Given the description of an element on the screen output the (x, y) to click on. 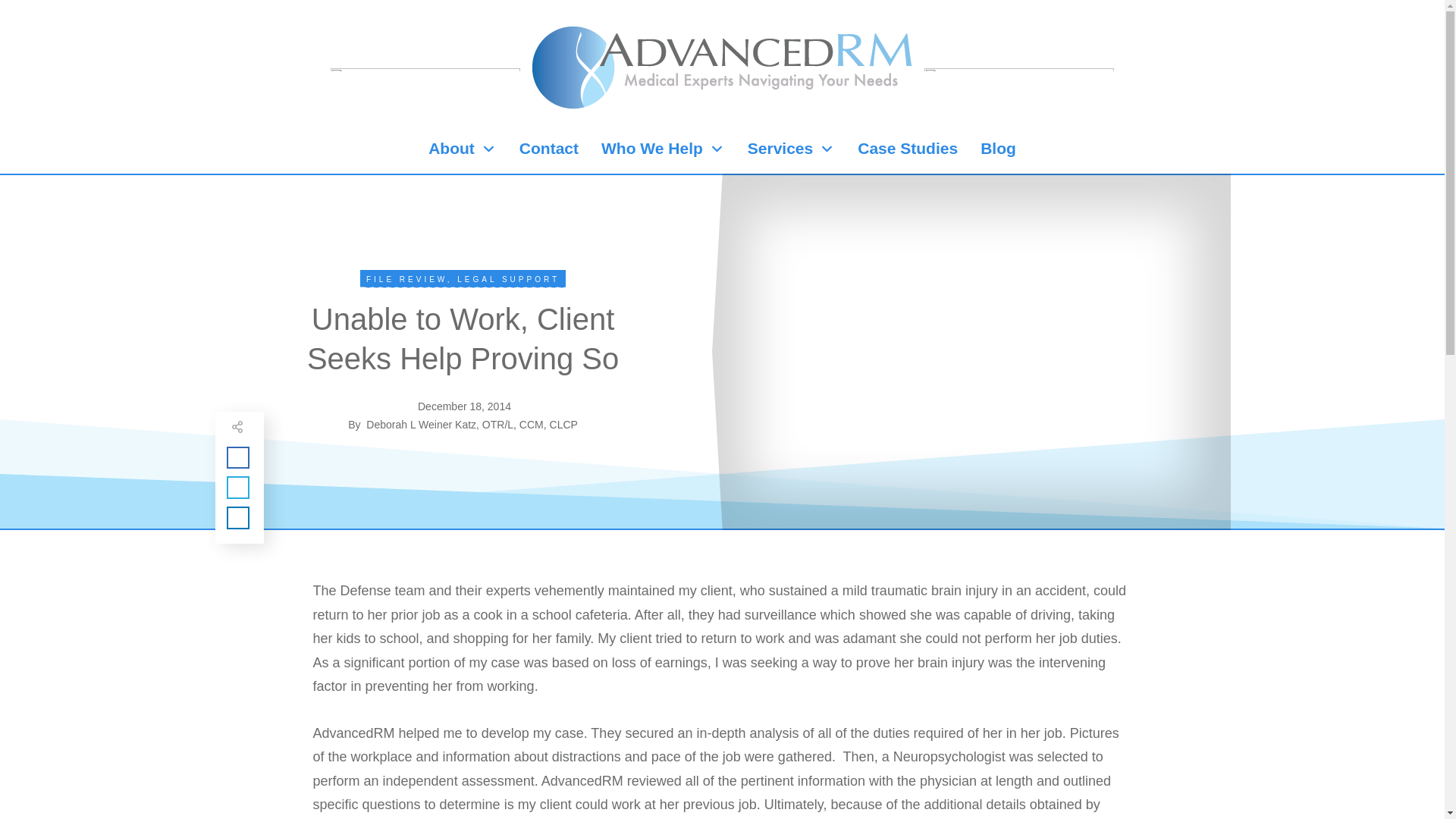
Blog (997, 148)
Asset 5 (424, 69)
Who We Help (663, 148)
Asset 5 (1018, 69)
Contact (548, 148)
Services (791, 148)
Case Studies (907, 148)
About (462, 148)
